Given the description of an element on the screen output the (x, y) to click on. 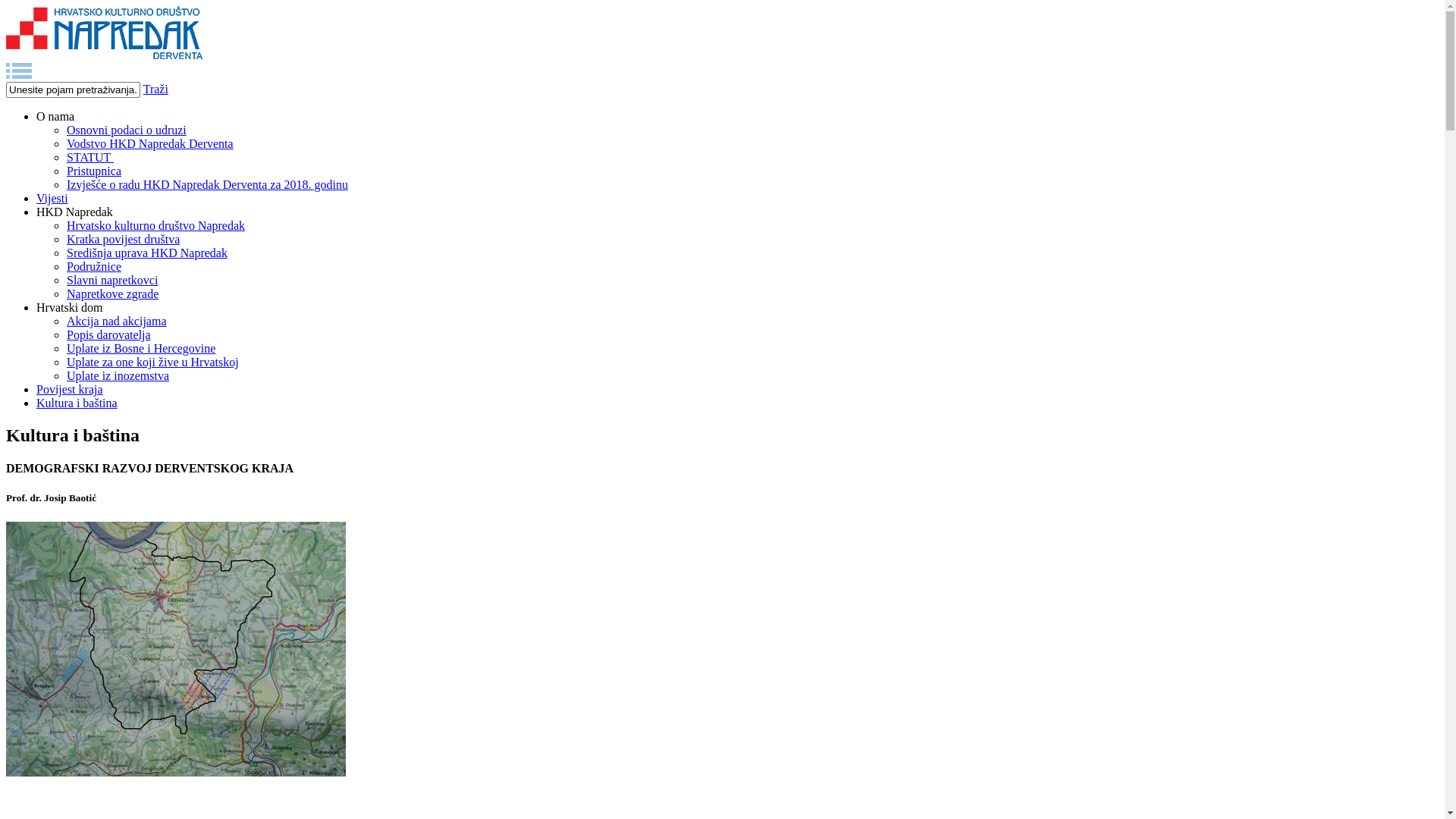
Slavni napretkovci Element type: text (111, 279)
Napretkove zgrade Element type: text (112, 293)
Hrvatski dom Element type: text (69, 307)
Uplate iz inozemstva Element type: text (117, 375)
HKD Napredak Element type: text (74, 211)
Povijest kraja Element type: text (69, 388)
Popis darovatelja Element type: text (108, 334)
Vodstvo HKD Napredak Derventa Element type: text (149, 143)
Osnovni podaci o udruzi Element type: text (126, 129)
O nama Element type: text (55, 115)
Pristupnica Element type: text (93, 170)
Akcija nad akcijama Element type: text (116, 320)
STATUT  Element type: text (89, 156)
Uplate iz Bosne i Hercegovine Element type: text (140, 348)
Vijesti Element type: text (52, 197)
